Given the description of an element on the screen output the (x, y) to click on. 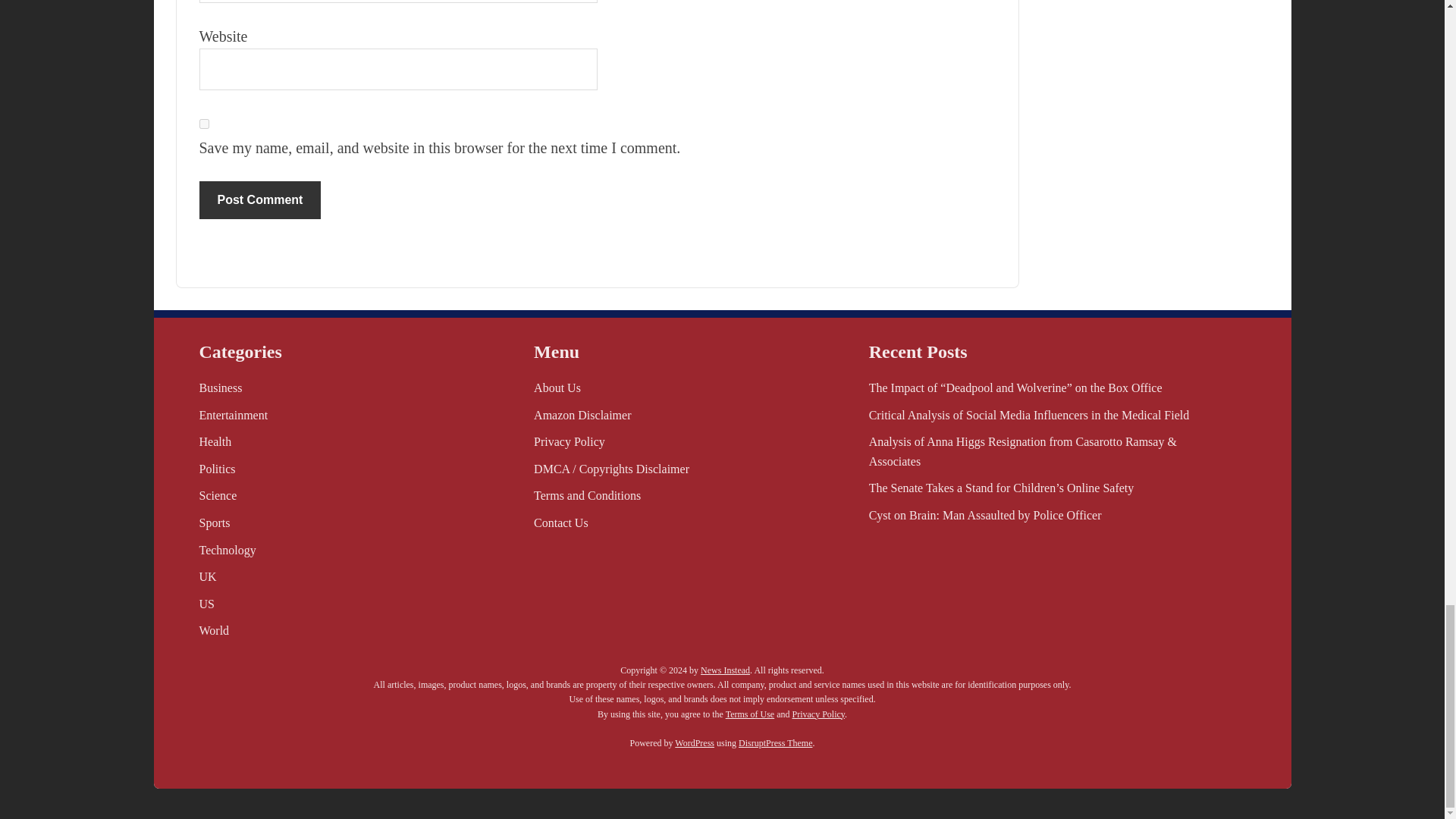
yes (203, 123)
Post Comment (259, 199)
